Given the description of an element on the screen output the (x, y) to click on. 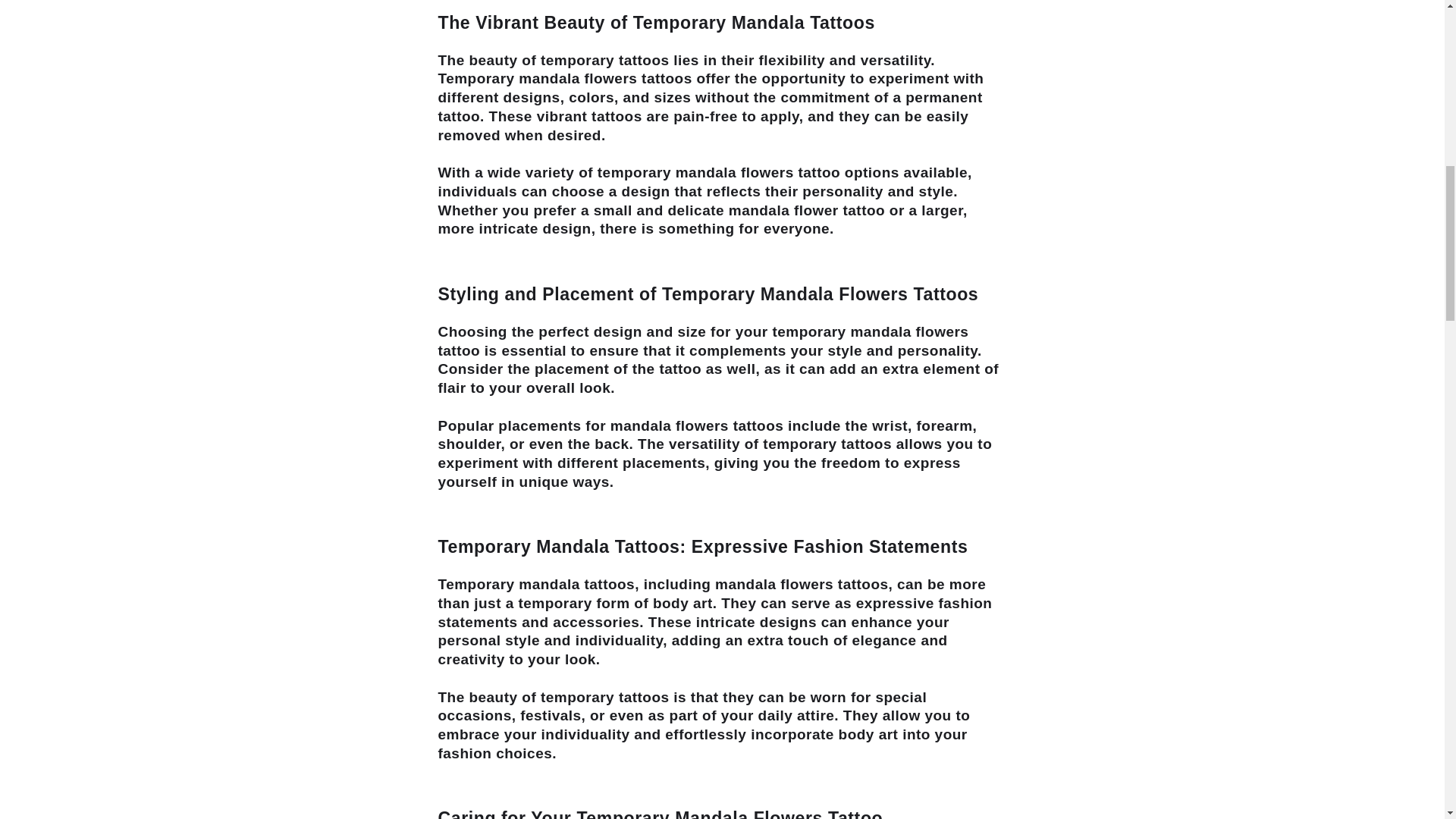
ICON-HAMBURGER (130, 47)
